Given the description of an element on the screen output the (x, y) to click on. 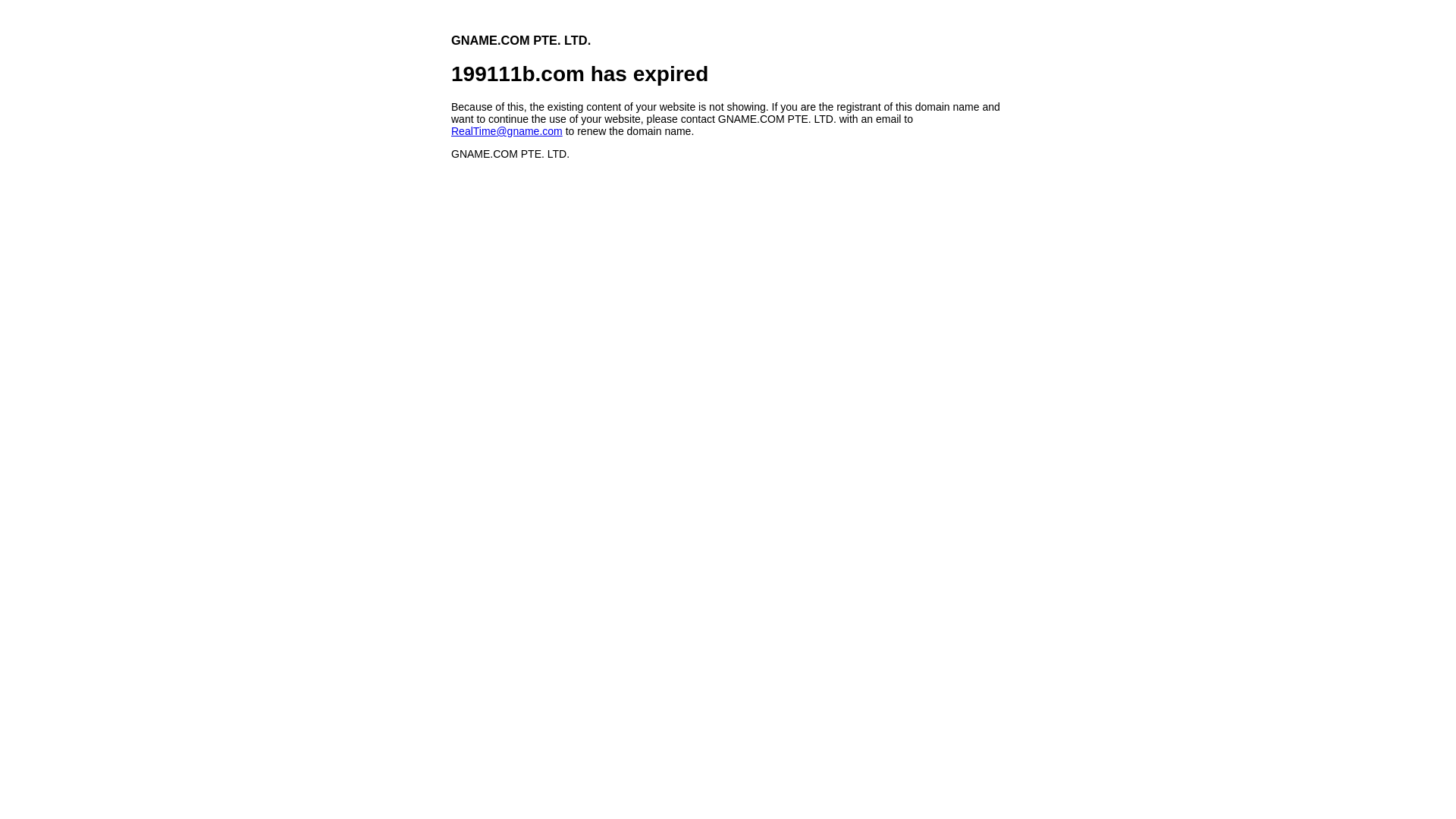
RealTime@gname.com Element type: text (506, 131)
